Given the description of an element on the screen output the (x, y) to click on. 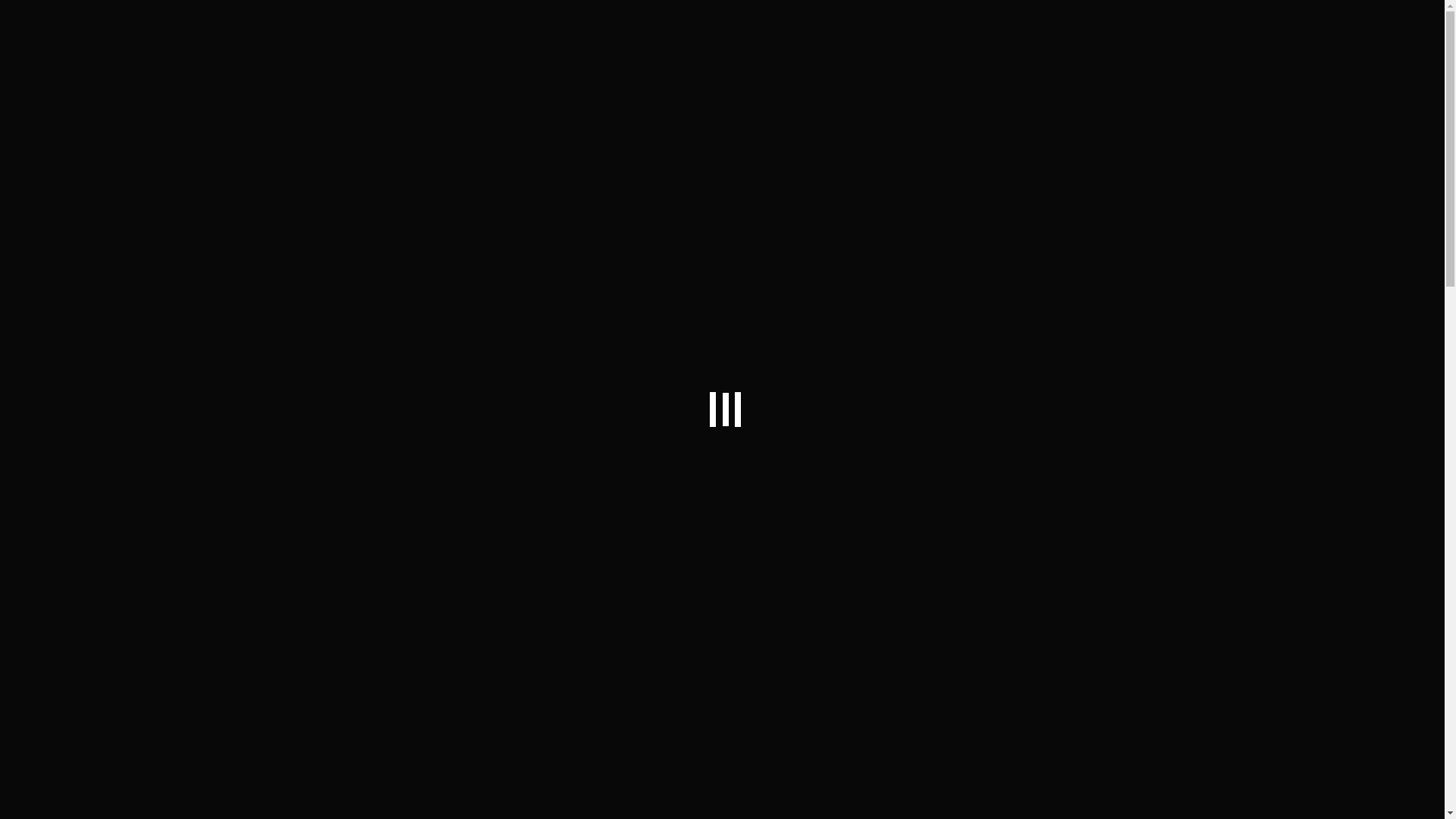
Checkout Element type: text (923, 30)
The Boundful Series Element type: text (822, 314)
Home Element type: text (293, 49)
Contact Element type: text (614, 30)
Wishlist Element type: text (819, 30)
The Boundful Series Element type: text (362, 49)
My Account Element type: text (749, 30)
Add To Cart Element type: text (762, 264)
Shop Element type: text (560, 30)
Home Element type: text (511, 30)
Facebook Element type: text (677, 30)
Cart Element type: text (870, 30)
